Given the description of an element on the screen output the (x, y) to click on. 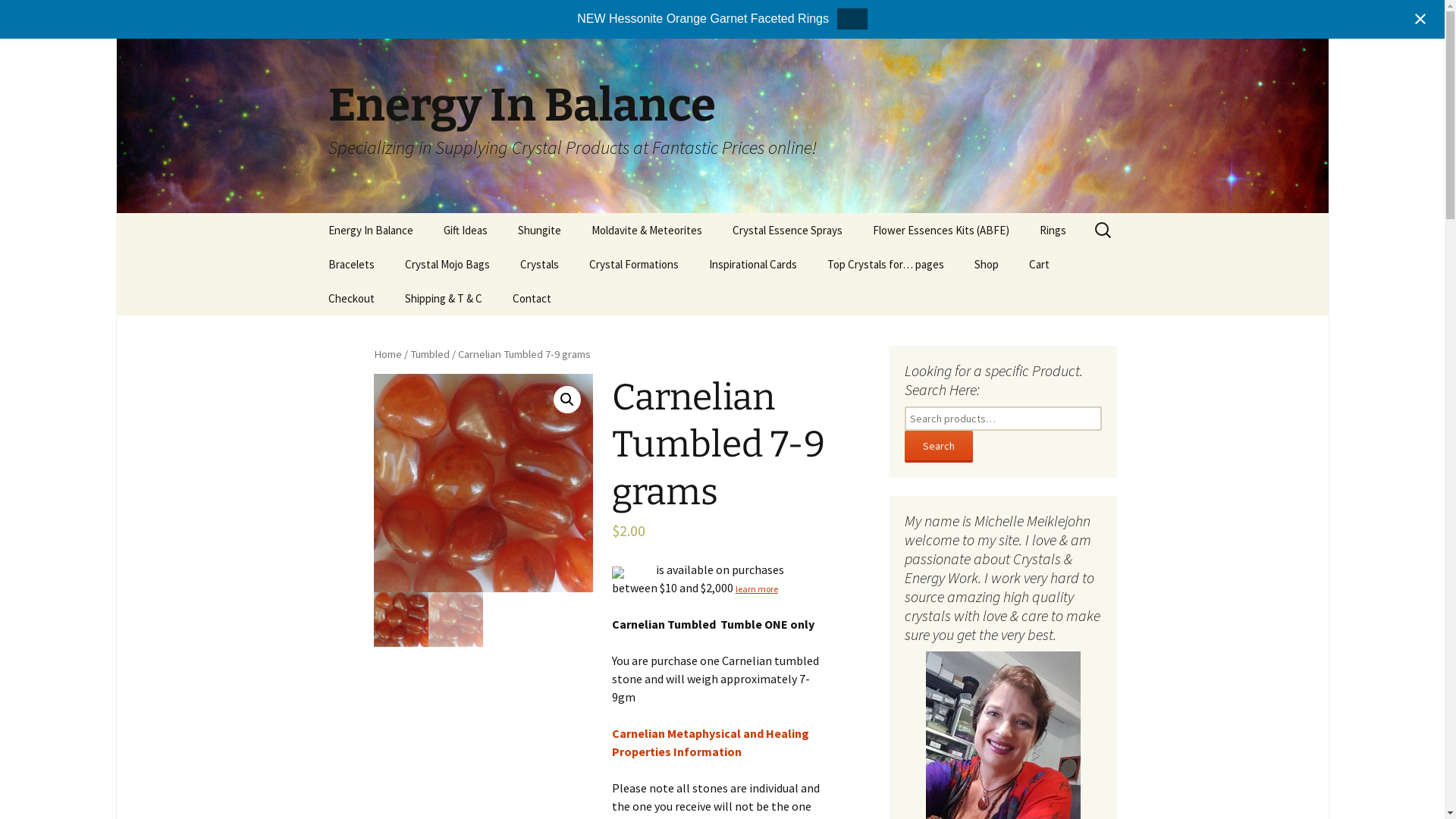
Flower Essences Kits (ABFE) Element type: text (939, 230)
Search Element type: text (18, 16)
Home Element type: text (387, 353)
Checkout Element type: text (350, 298)
Abundance Crystal Essence Spray 50ml Element type: text (793, 269)
Crystals Element type: text (539, 264)
Privacy Policy Element type: text (465, 332)
Amethyst Rings Element type: text (1099, 264)
Crystal Essence Sprays Element type: text (787, 230)
Top 7 Ways to use Shungite for EMF Protection Element type: text (887, 309)
learn more Element type: text (756, 588)
Contact Element type: text (531, 298)
Cart Element type: text (1038, 264)
Times To Celebrate Element type: text (388, 264)
Tumbled Element type: text (428, 353)
EMF (5G) Protection and Cellular Regeneration Kits Element type: text (932, 275)
Bracelets Element type: text (350, 264)
Crystal Formations Element type: text (633, 264)
Carnelian Tumbled Stones for sale click here for more info Element type: hover (702, 482)
Gift Ideas Element type: text (464, 230)
Search Element type: text (34, 15)
Chakra Hanger Element type: text (465, 298)
Shipping & T & C Element type: text (443, 298)
Skip to content Element type: text (312, 212)
Carnelian Tumbled Stones for sale click here for more info Element type: hover (483, 482)
Crystal Mojo Bags Element type: text (447, 264)
Search Element type: text (937, 446)
Moldavite & Meteorites Element type: text (646, 230)
Carnelian Metaphysical and Healing Properties Information Element type: text (710, 742)
How to Spot a fake piece of Moldavite Element type: text (652, 269)
Rings Element type: text (1051, 230)
Energy In Balance Element type: text (369, 230)
Aegirine (Acmite) Element type: text (580, 298)
EMF Radiation-Free Air Tube Earbud Headphones Element type: text (577, 275)
Channel Face Element type: text (648, 298)
Shop Element type: text (985, 264)
Inspirational Cards Element type: text (752, 264)
Shungite Element type: text (538, 230)
